Given the description of an element on the screen output the (x, y) to click on. 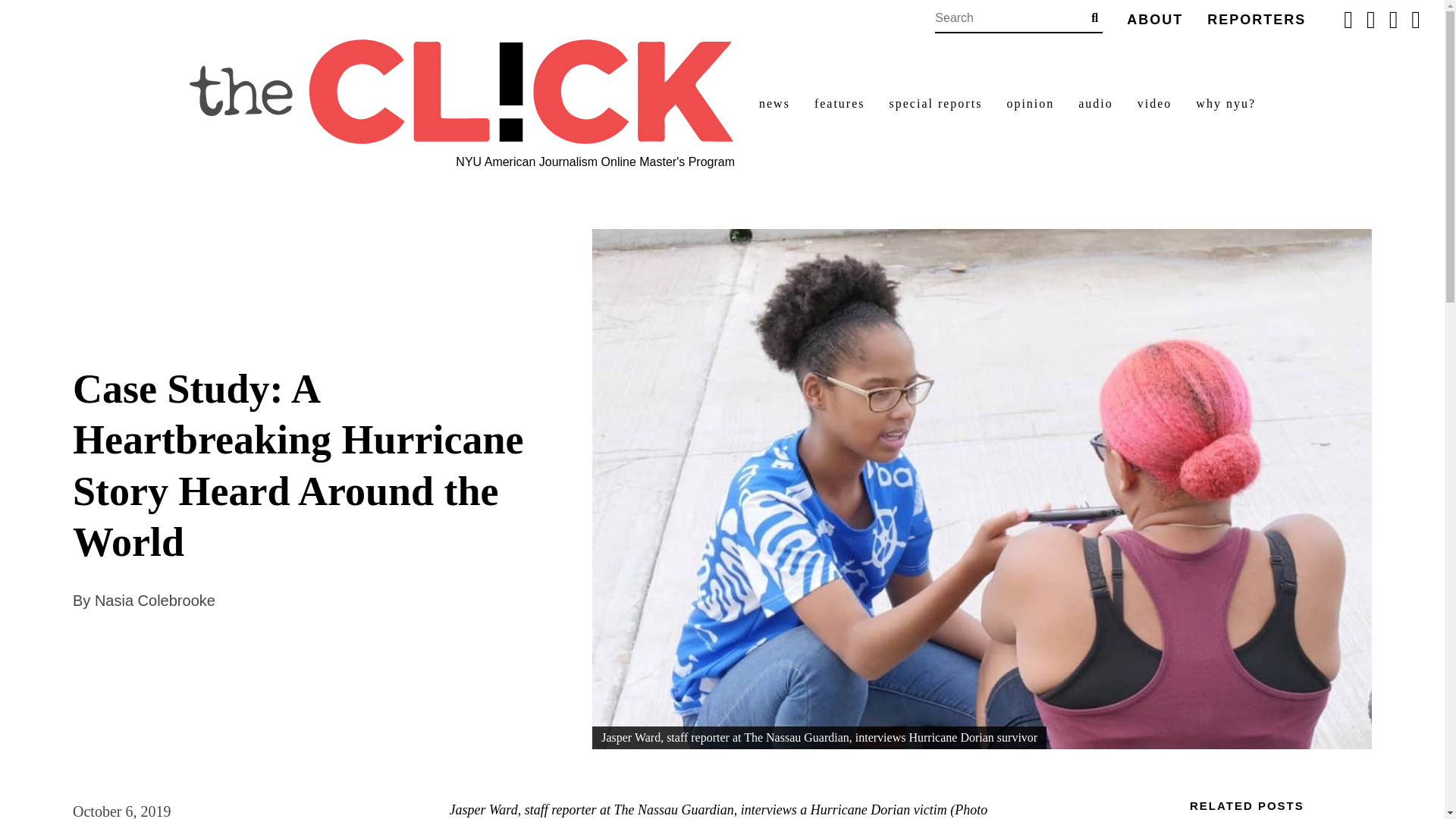
why nyu? (1225, 103)
opinion (1030, 103)
special reports (935, 103)
REPORTERS (1256, 19)
ABOUT (1154, 19)
video (1154, 103)
Posts by Nasia Colebrooke (154, 600)
news (774, 103)
audio (1095, 103)
NYU American Journalism Online Master's Program (595, 162)
Nasia Colebrooke (154, 600)
The Click (462, 91)
features (838, 103)
